Given the description of an element on the screen output the (x, y) to click on. 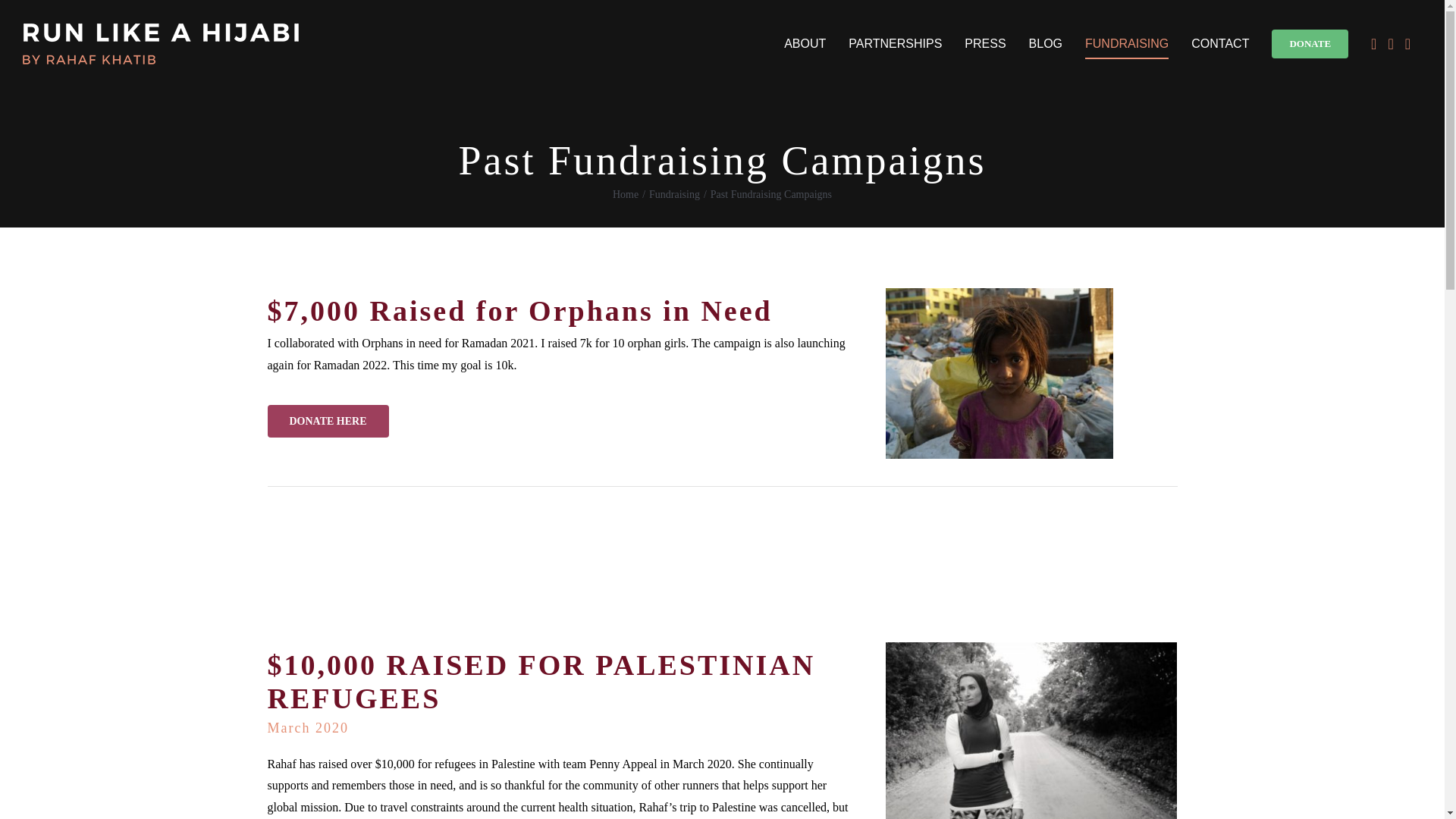
orphans in need (999, 373)
PARTNERSHIPS (895, 43)
FUNDRAISING (1126, 43)
